Given the description of an element on the screen output the (x, y) to click on. 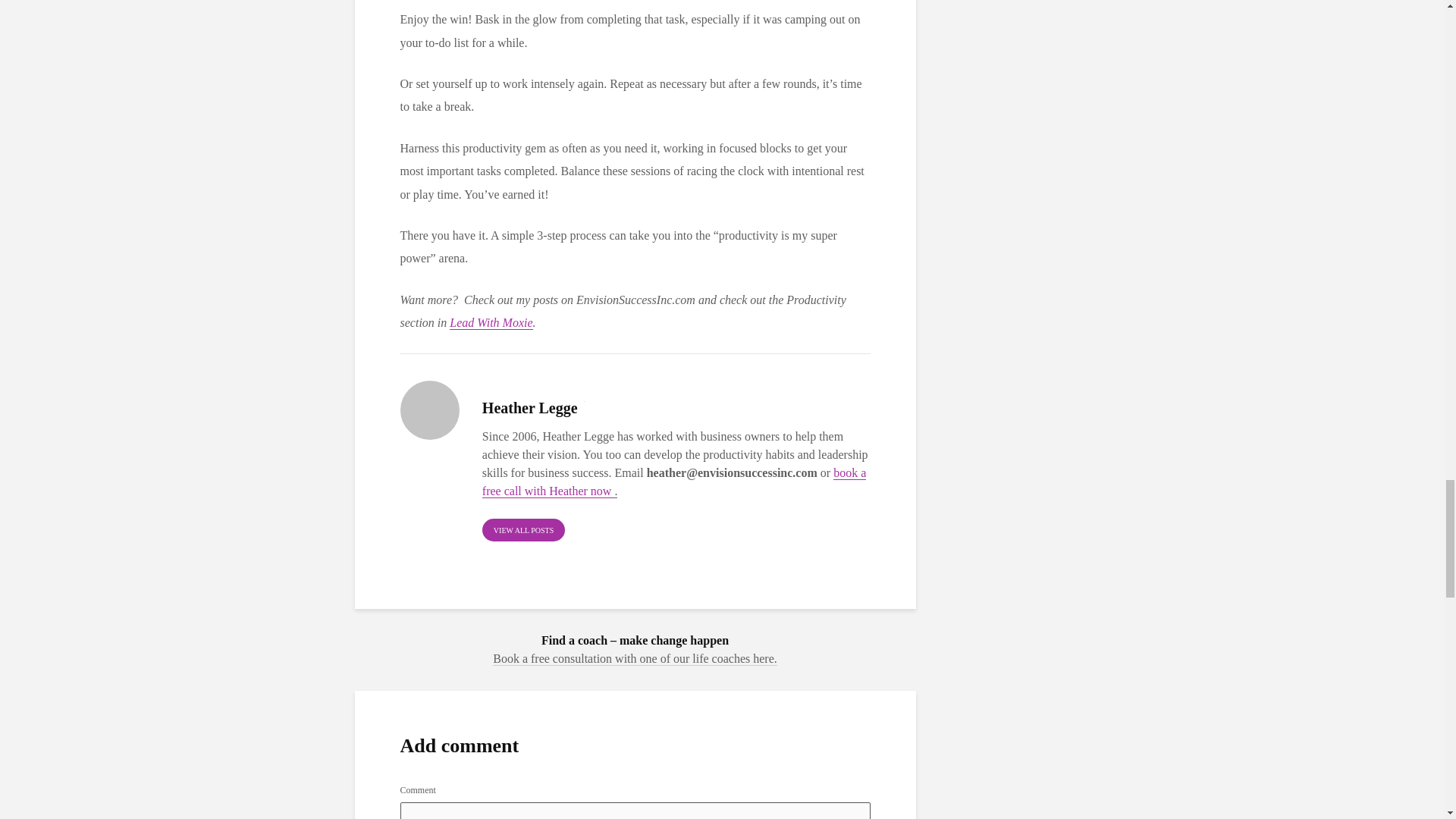
book a free call with Heather now (673, 481)
Lead With Moxie (490, 323)
